Given the description of an element on the screen output the (x, y) to click on. 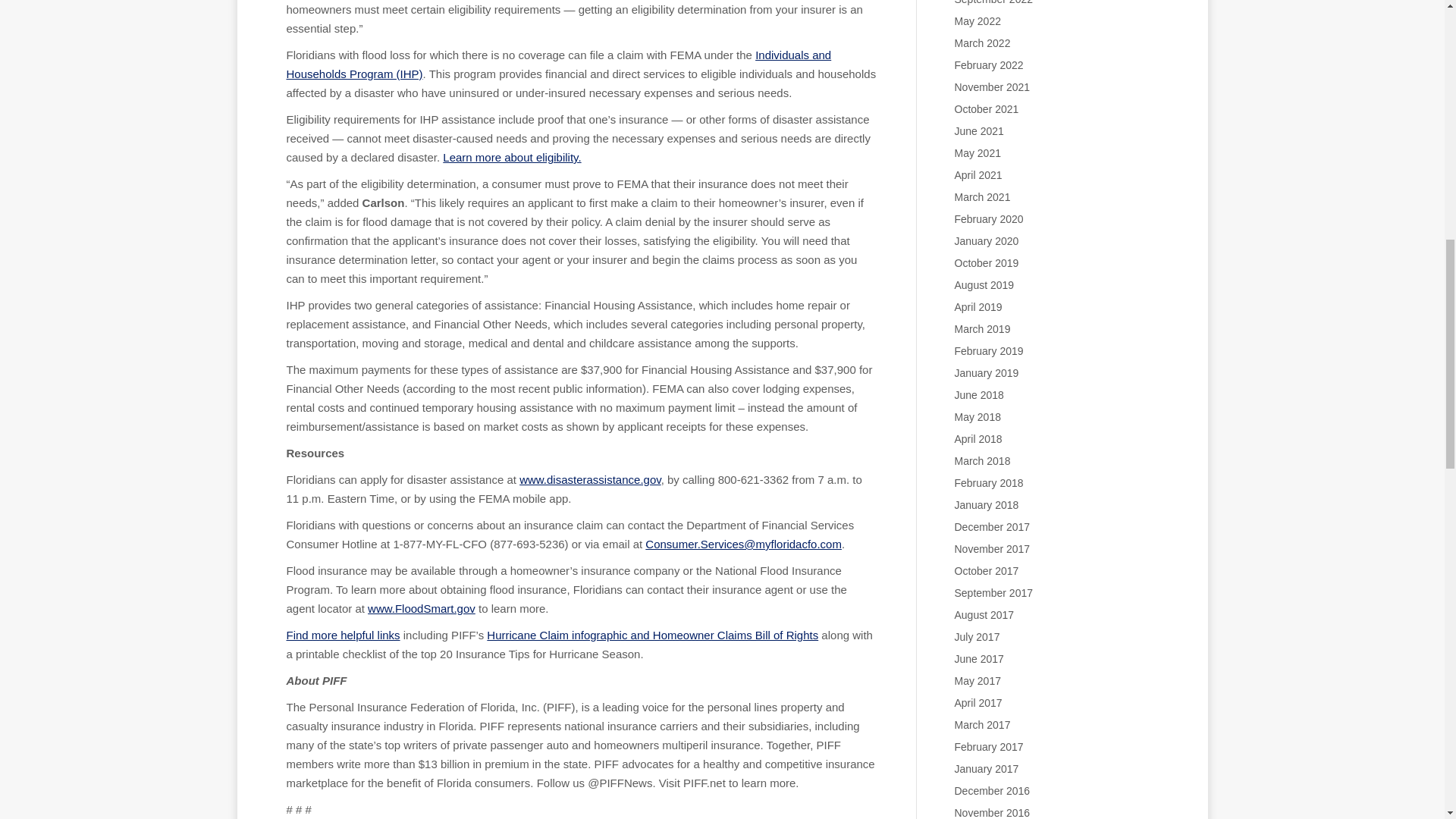
Learn more about eligibility. (511, 156)
www.disasterassistance.gov (590, 479)
Find more helpful links (343, 634)
www.FloodSmart.gov (422, 608)
